Given the description of an element on the screen output the (x, y) to click on. 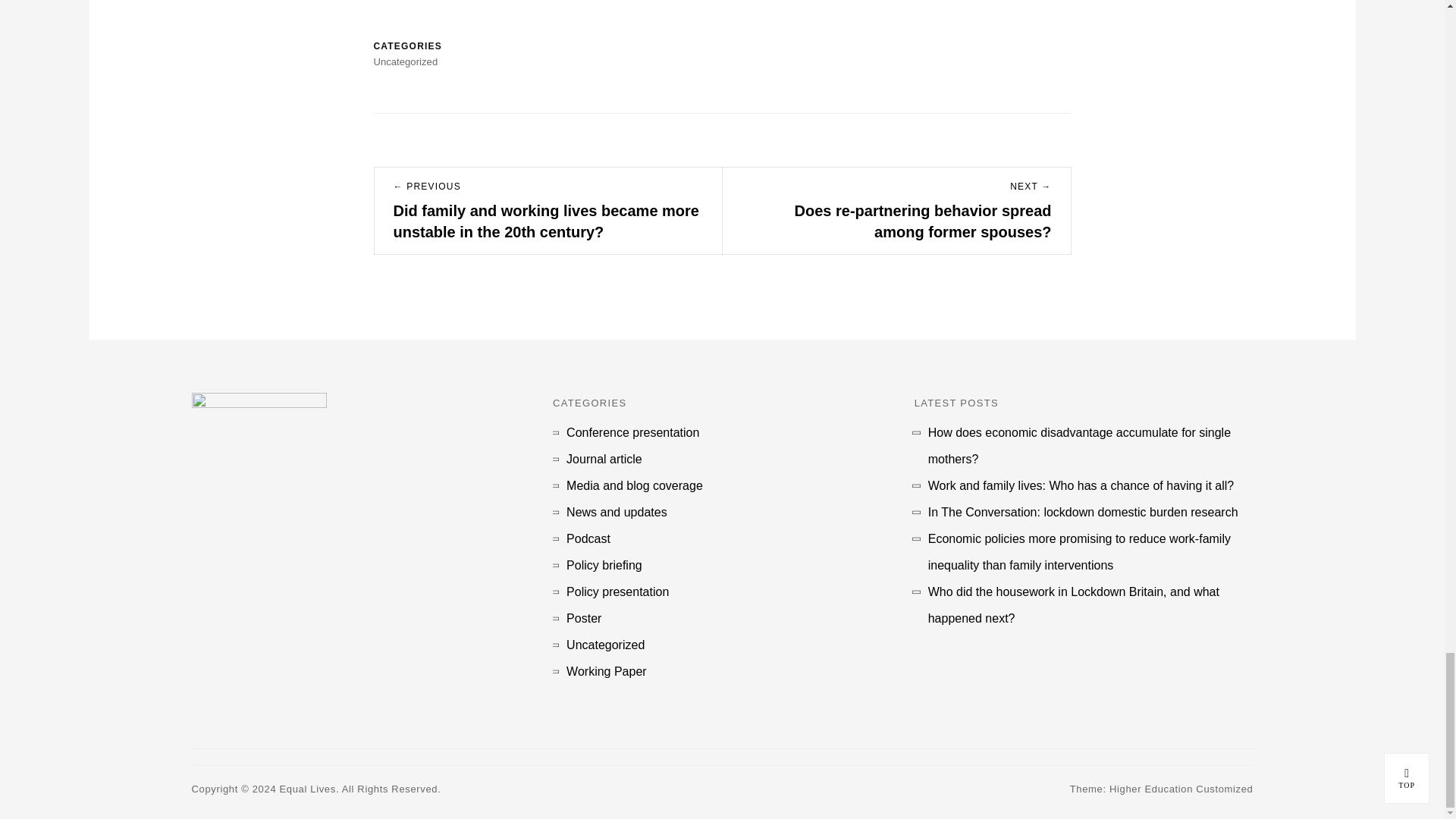
Work and family lives: Who has a chance of having it all? (1080, 485)
Equal Lives (307, 788)
Working Paper (606, 671)
Policy presentation (617, 591)
Journal article (604, 458)
Higher Education Customized (1181, 788)
Media and blog coverage (634, 485)
Policy briefing (604, 565)
News and updates (616, 511)
Uncategorized (605, 644)
Podcast (588, 538)
